Given the description of an element on the screen output the (x, y) to click on. 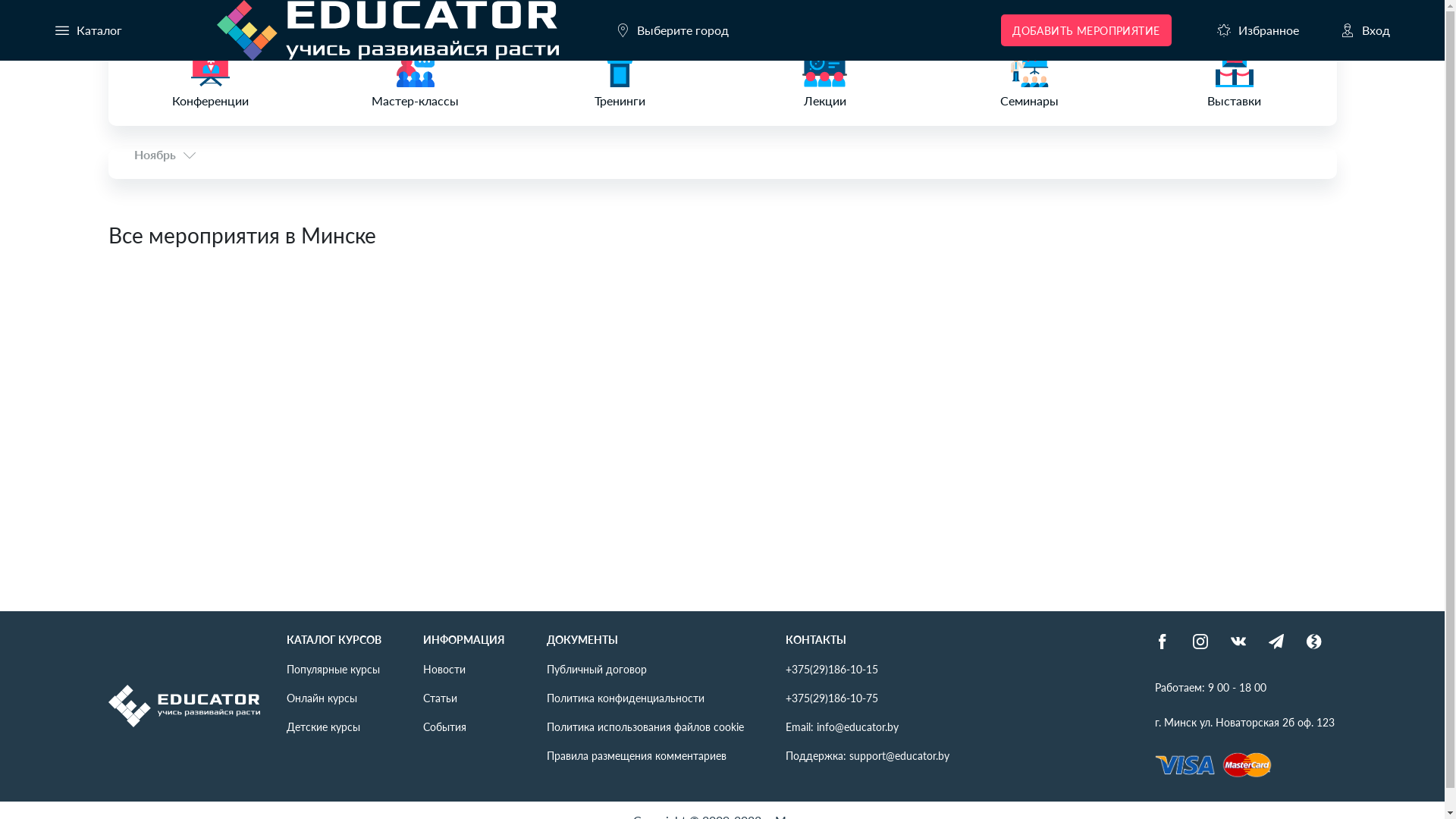
+375(29)186-10-75 Element type: text (831, 697)
Email: info@educator.by Element type: text (841, 726)
+375(29)186-10-15 Element type: text (831, 668)
